Given the description of an element on the screen output the (x, y) to click on. 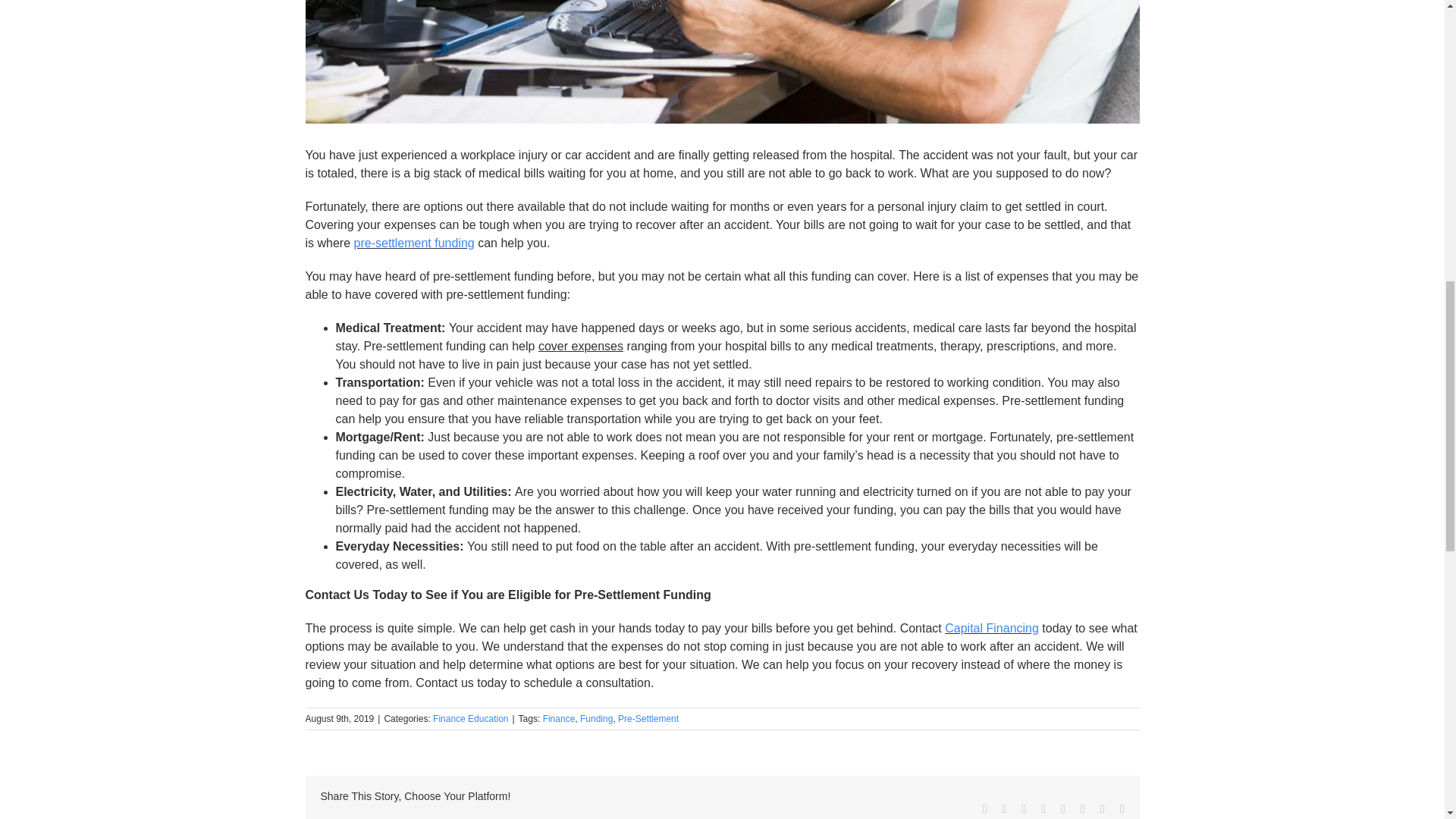
View Larger Image (721, 61)
Pre-Settlement (647, 718)
pre-settlement funding (413, 242)
Funding (595, 718)
Finance (559, 718)
Capital Financing (991, 627)
Finance Education (470, 718)
